Given the description of an element on the screen output the (x, y) to click on. 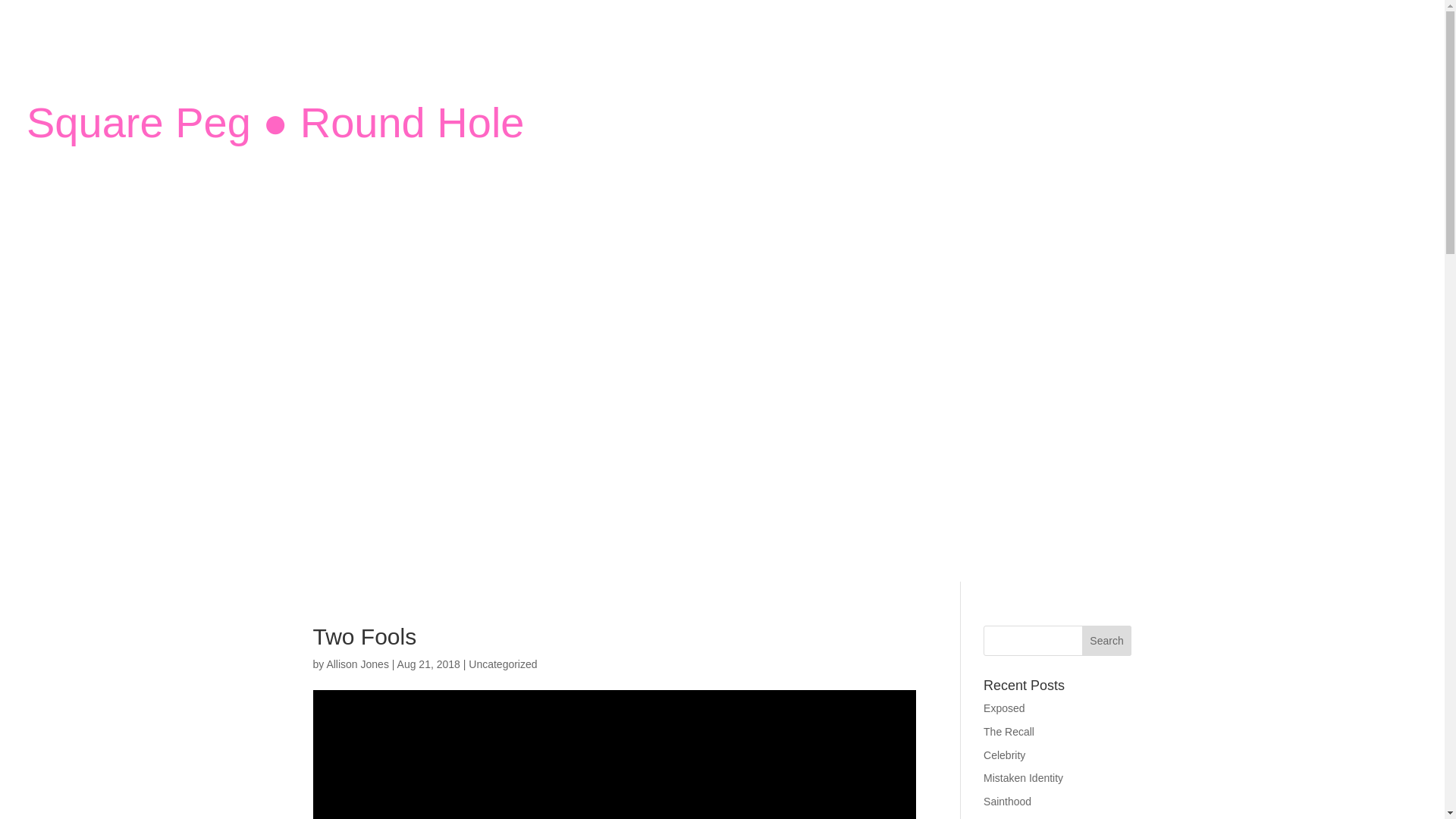
Search (1106, 640)
Exposed (1004, 707)
The Recall (1008, 731)
Mistaken Identity (1023, 777)
Sainthood (1007, 801)
Search (1106, 640)
Allison Jones (357, 664)
Uncategorized (502, 664)
Posts by Allison Jones (357, 664)
Celebrity (1004, 755)
